Given the description of an element on the screen output the (x, y) to click on. 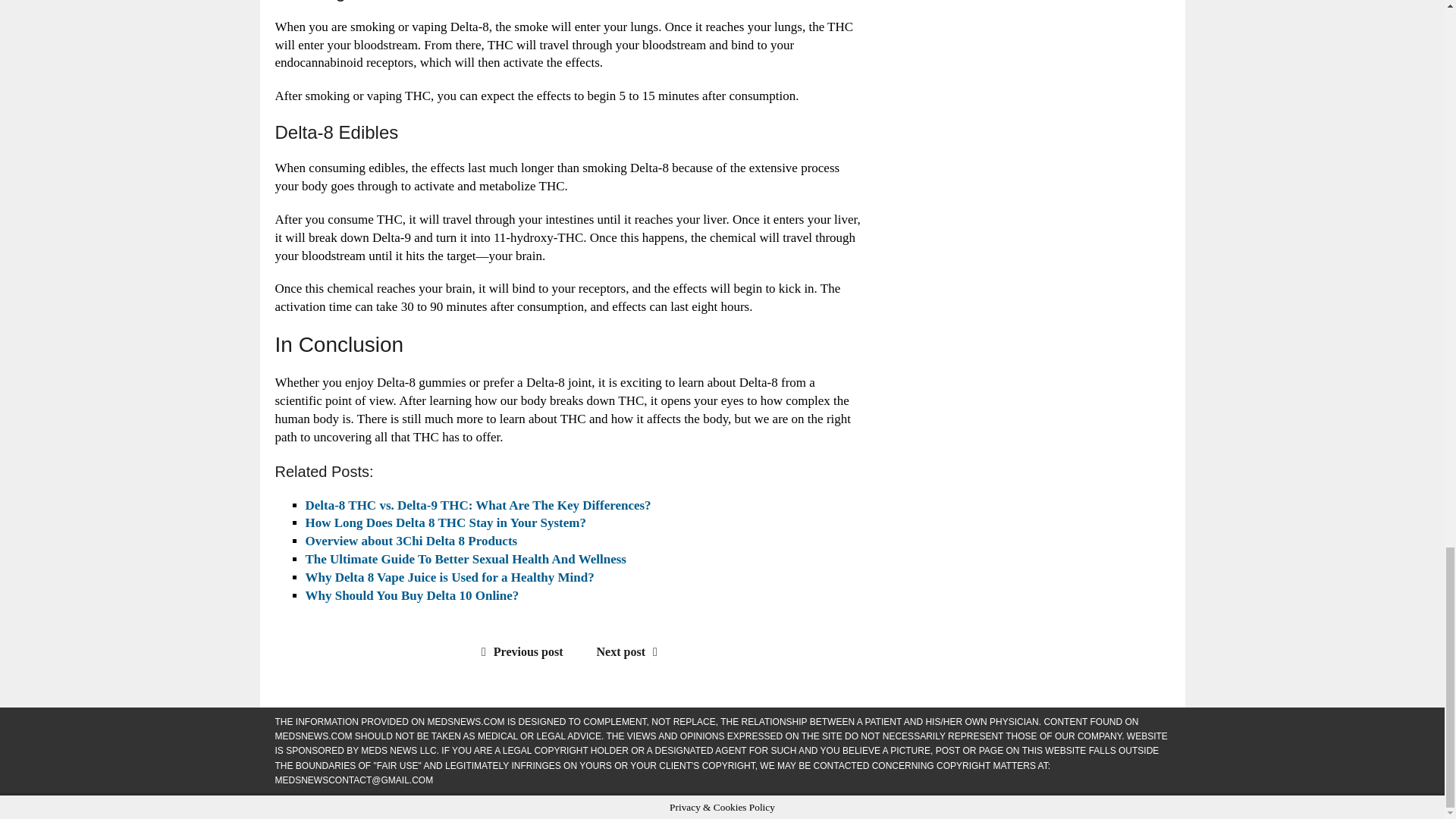
Previous post (518, 651)
Why Delta 8 Vape Juice is Used for a Healthy Mind? (449, 577)
How Long Does Delta 8 THC Stay in Your System? (444, 522)
The Ultimate Guide To Better Sexual Health And Wellness (465, 559)
Delta-8 THC vs. Delta-9 THC: What Are The Key Differences? (477, 504)
Why Should You Buy Delta 10 Online? (411, 595)
Next post (630, 651)
Overview about 3Chi Delta 8 Products (410, 540)
